Given the description of an element on the screen output the (x, y) to click on. 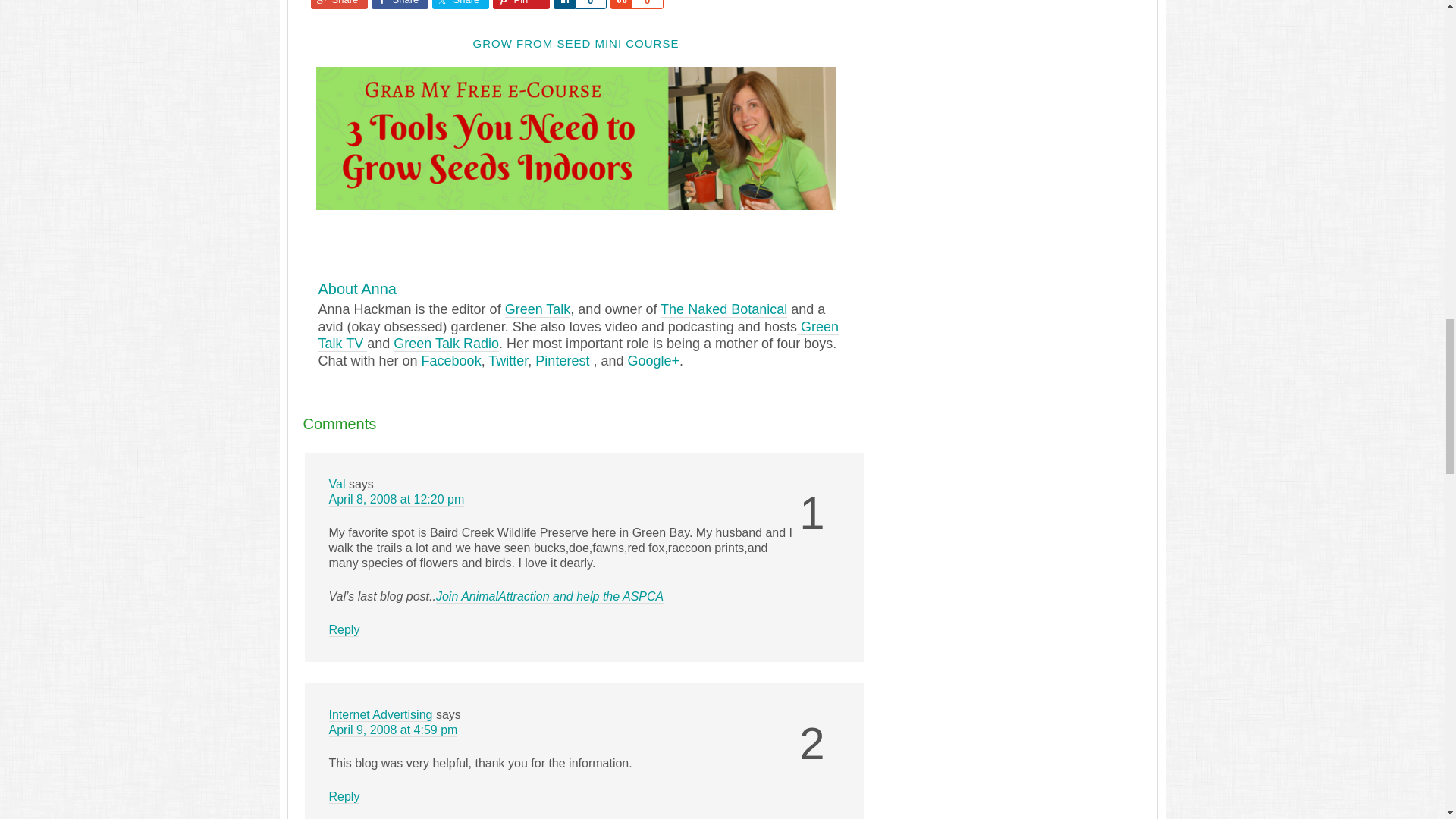
Grow From Seed Mini Course (575, 201)
